Given the description of an element on the screen output the (x, y) to click on. 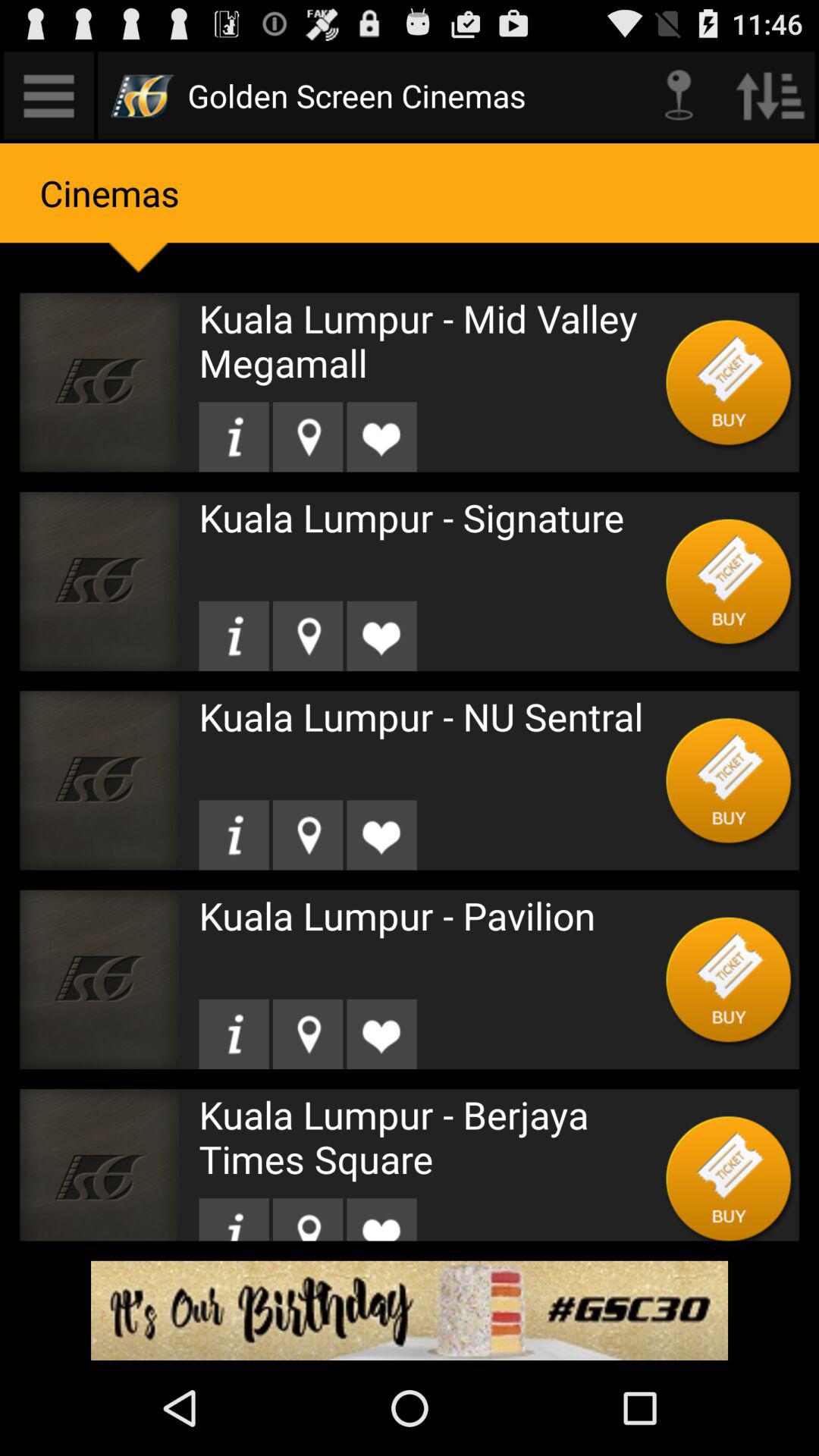
go to location option (307, 437)
